Given the description of an element on the screen output the (x, y) to click on. 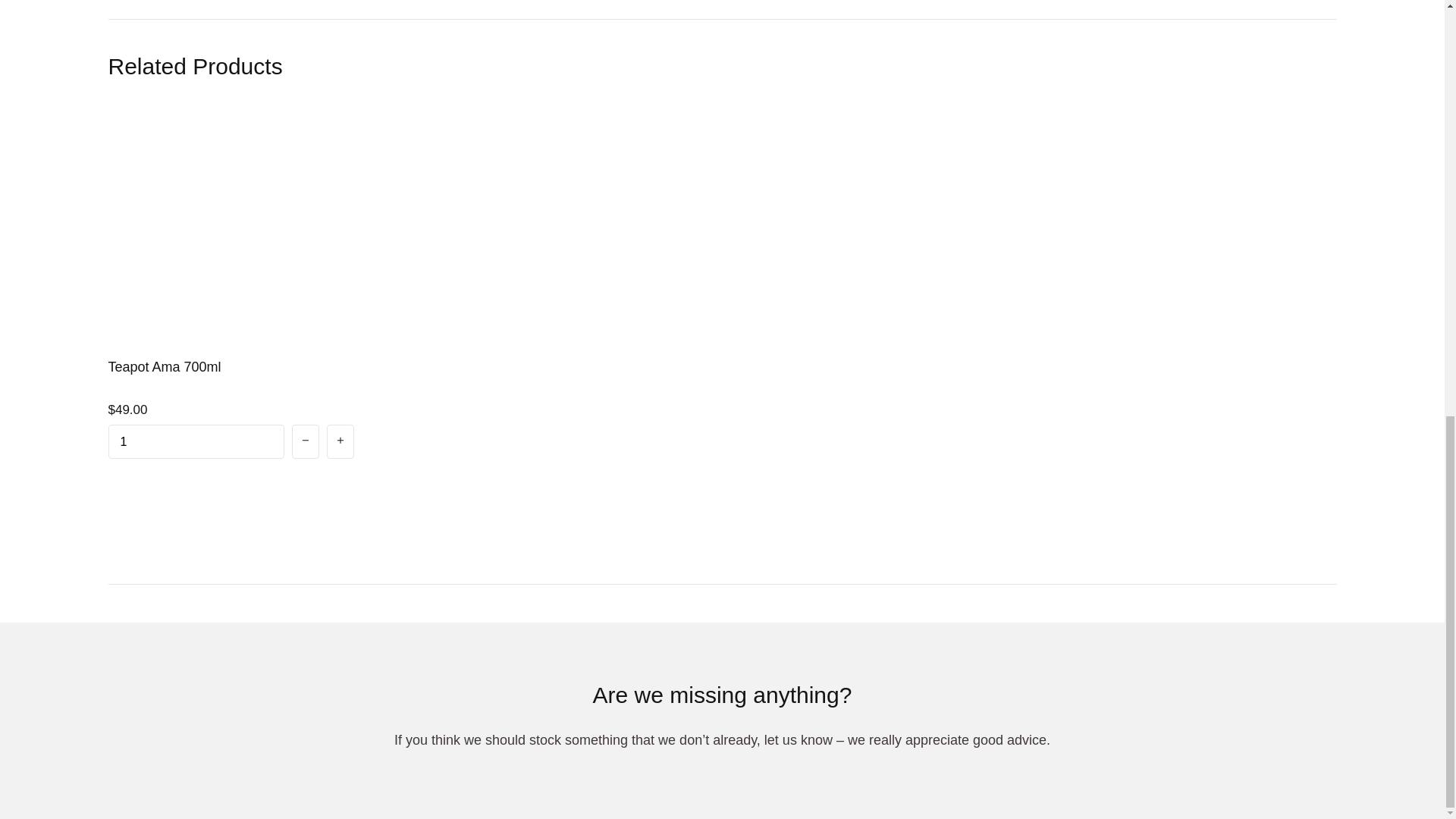
1 (195, 441)
